Given the description of an element on the screen output the (x, y) to click on. 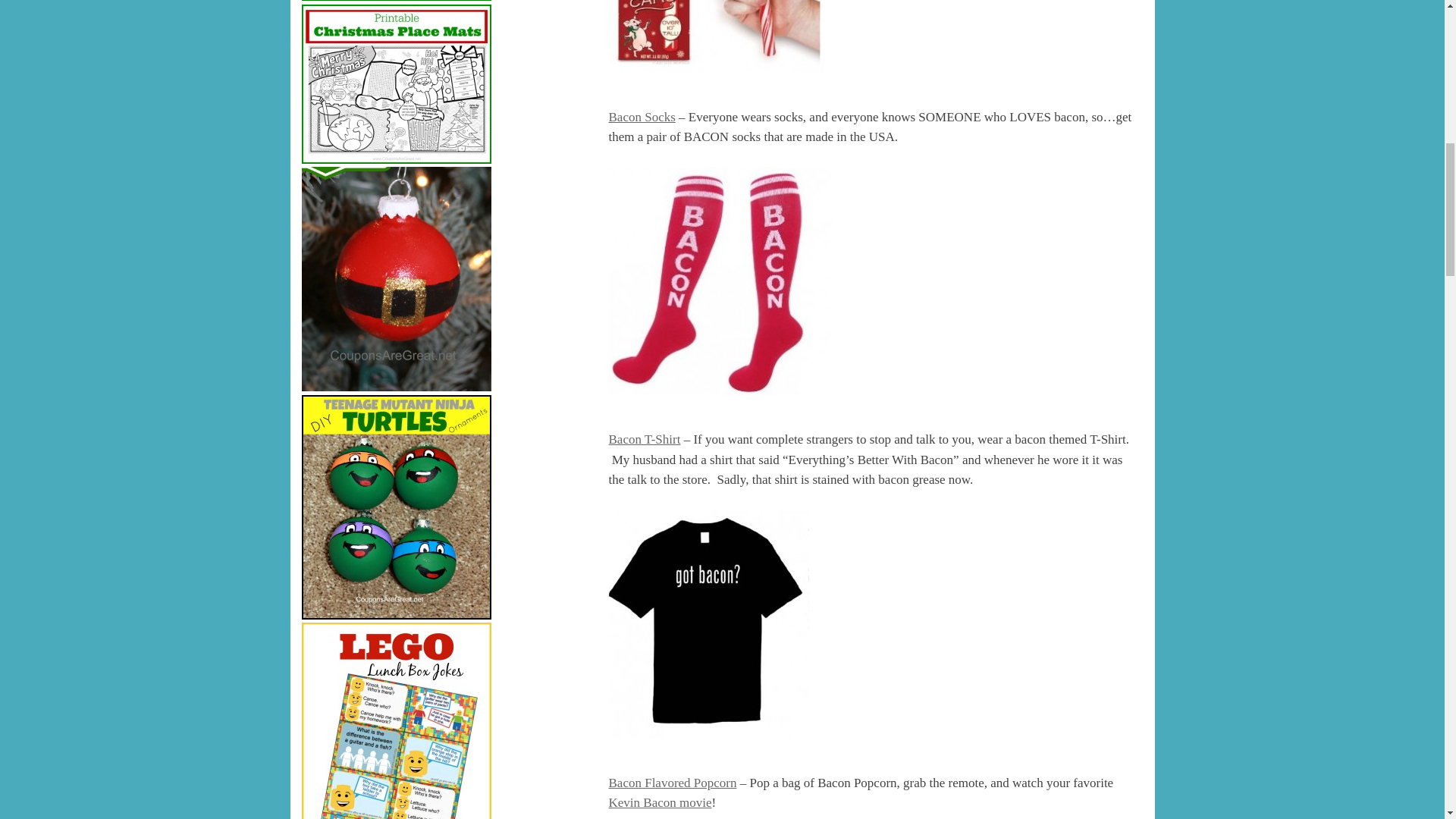
Bacon T-Shirt (643, 439)
Kevin Bacon movie (659, 802)
bacon-socks (719, 280)
bacon-candy-cane (716, 36)
Bacon Socks (641, 116)
Bacon Flavored Popcorn (672, 781)
